Given the description of an element on the screen output the (x, y) to click on. 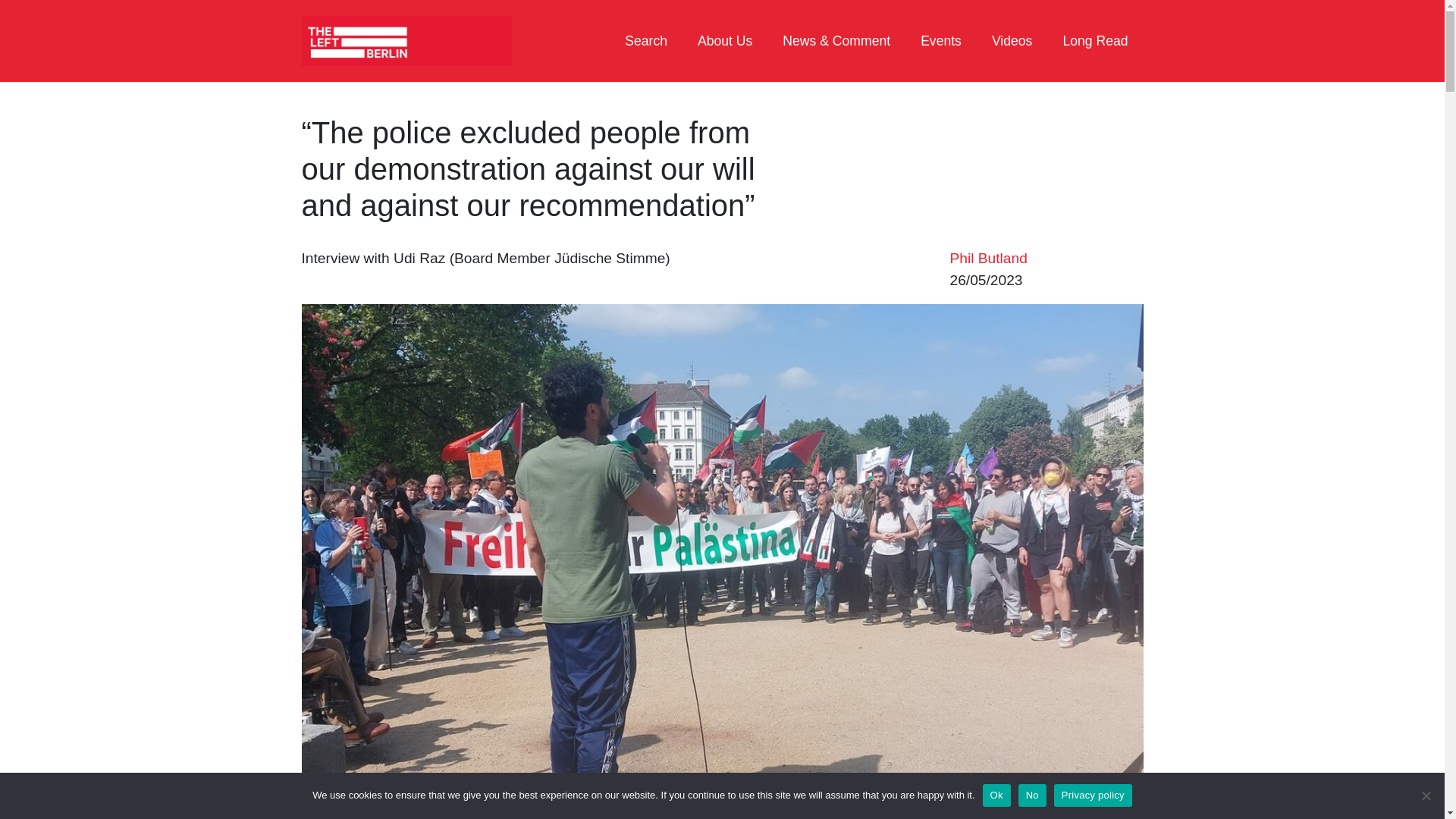
Videos (1011, 40)
Videos (1011, 40)
Search (646, 40)
Events (940, 40)
About Us (724, 40)
Long Read (1094, 40)
About Us (724, 40)
Search (646, 40)
Phil Butland (987, 258)
Events (940, 40)
Long Read (1094, 40)
Posts by Phil Butland (987, 258)
